Given the description of an element on the screen output the (x, y) to click on. 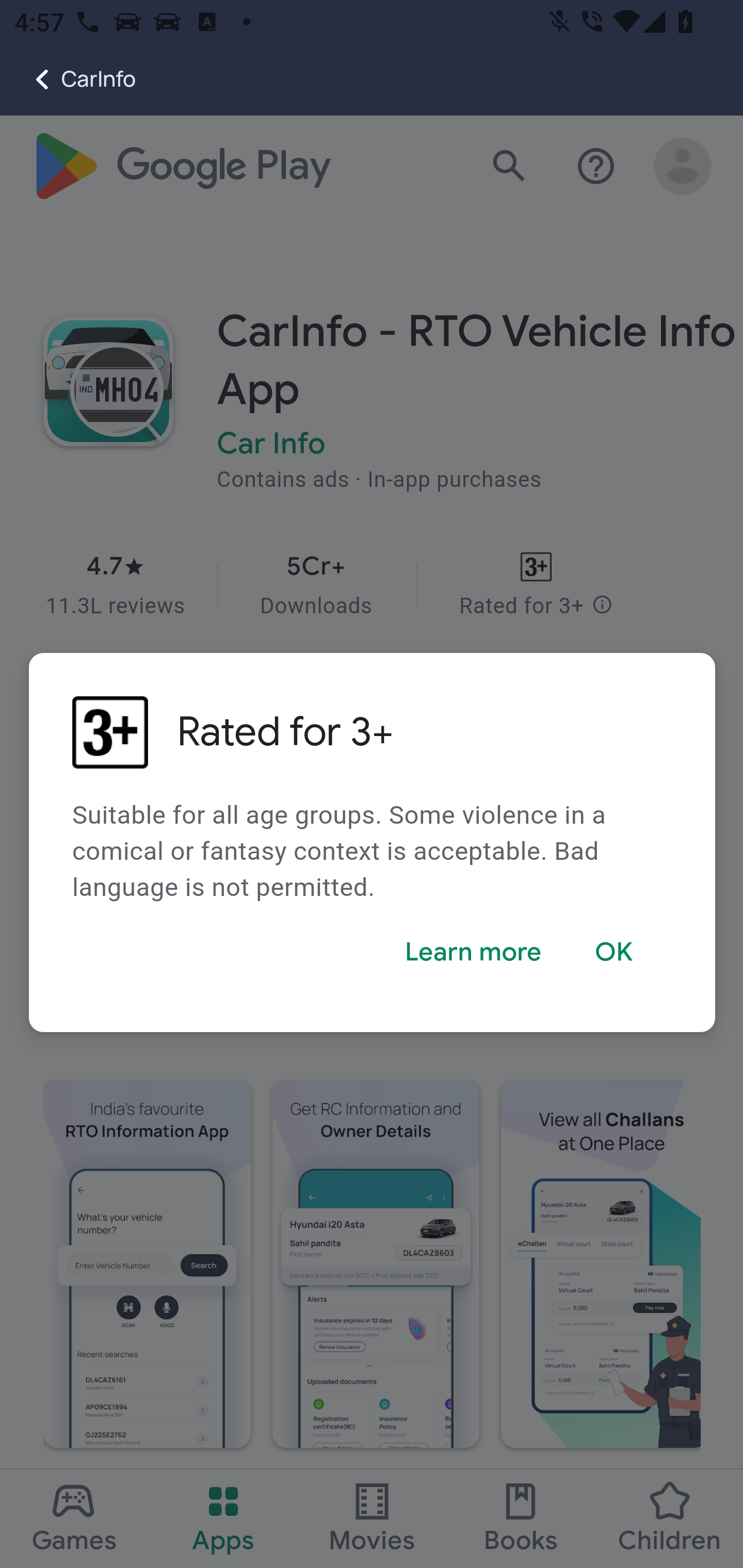
CarInfo (67, 79)
Learn more (473, 952)
OK (614, 952)
